Given the description of an element on the screen output the (x, y) to click on. 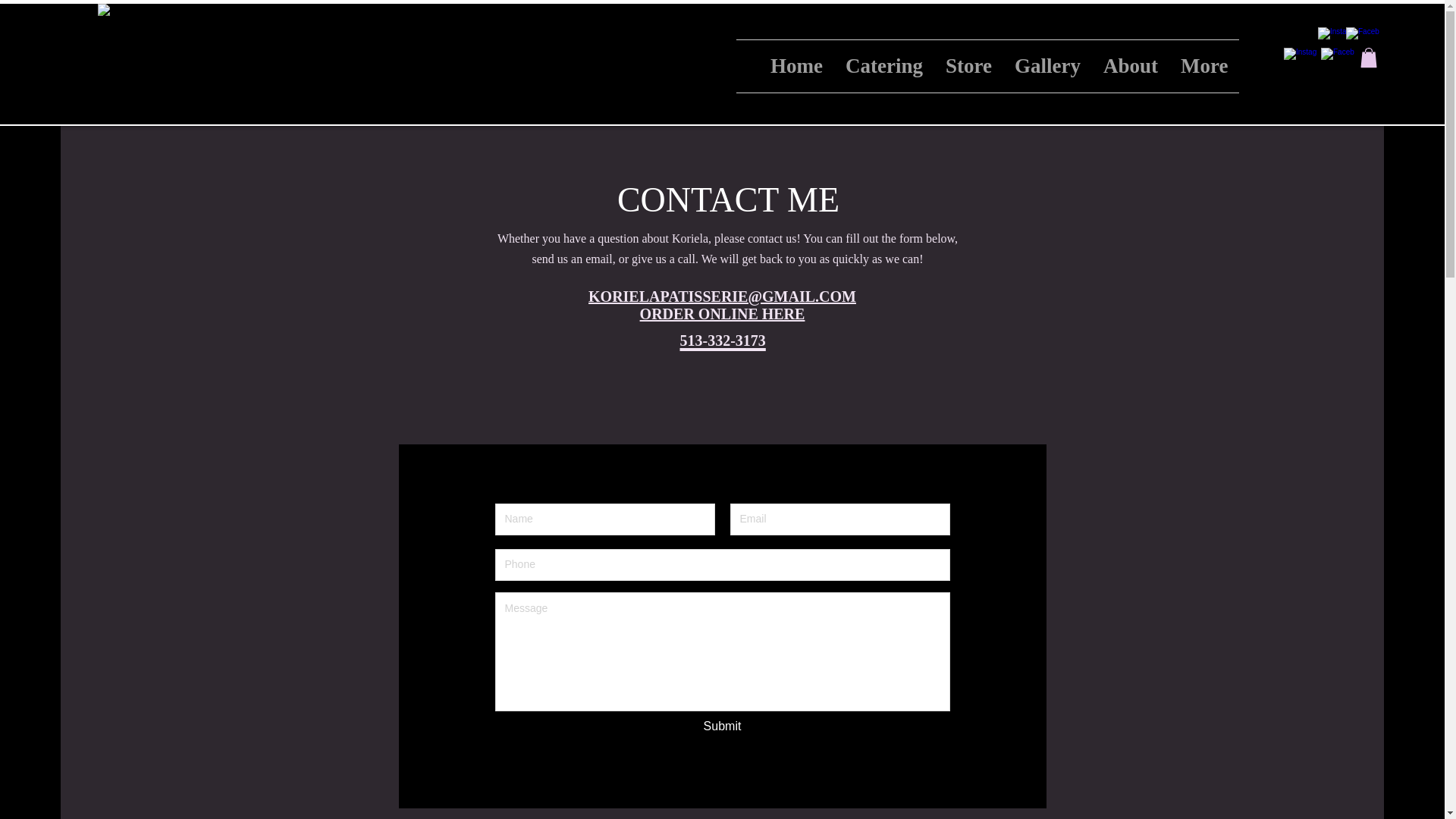
Home (796, 66)
Store (968, 66)
ORDER ONLINE HERE (722, 313)
Catering (884, 66)
Submit (722, 726)
About (1130, 66)
513-332-3173 (722, 332)
Gallery (1047, 66)
